Given the description of an element on the screen output the (x, y) to click on. 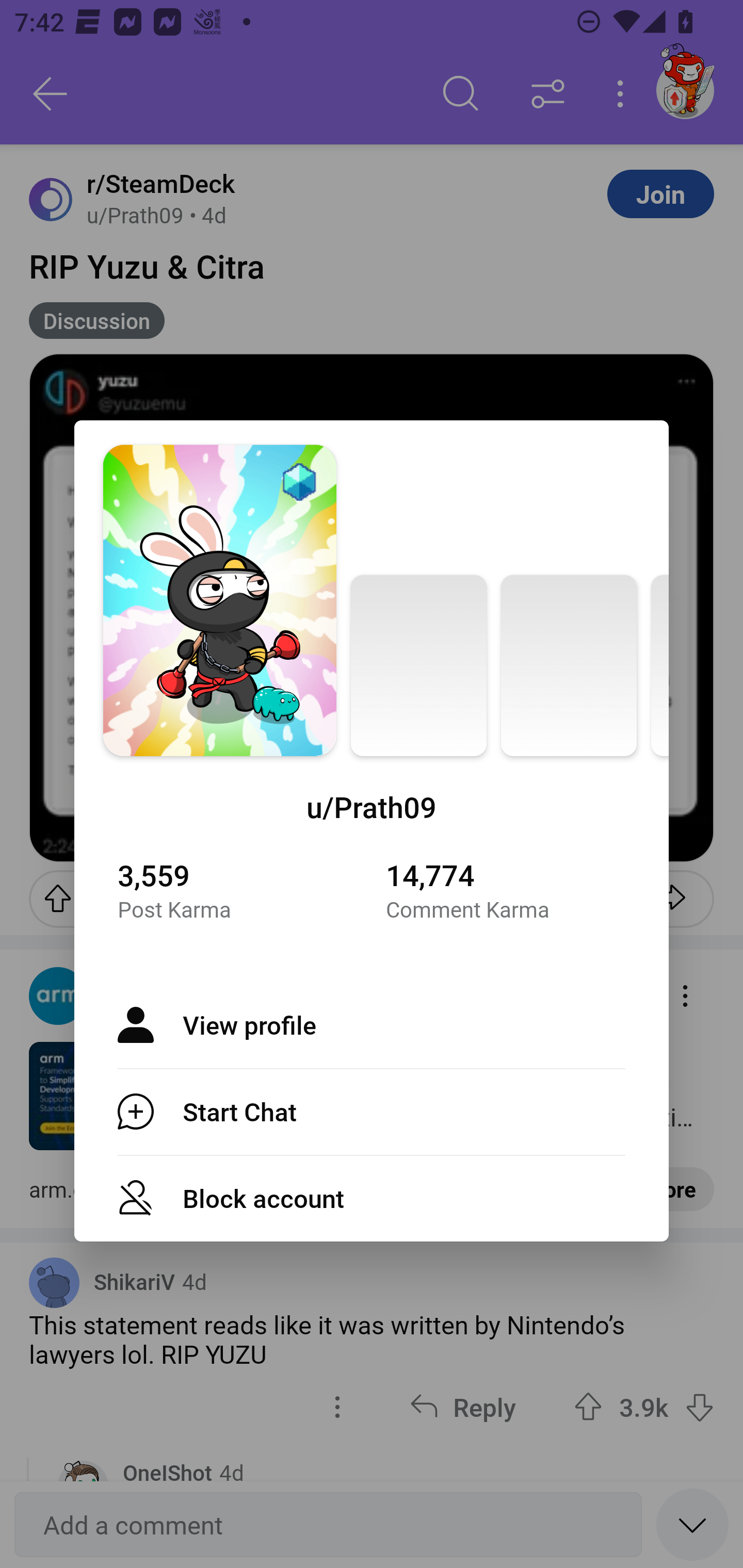
u/Prath09 (371, 806)
View profile (371, 1024)
Start Chat (371, 1111)
Block account (371, 1198)
